Given the description of an element on the screen output the (x, y) to click on. 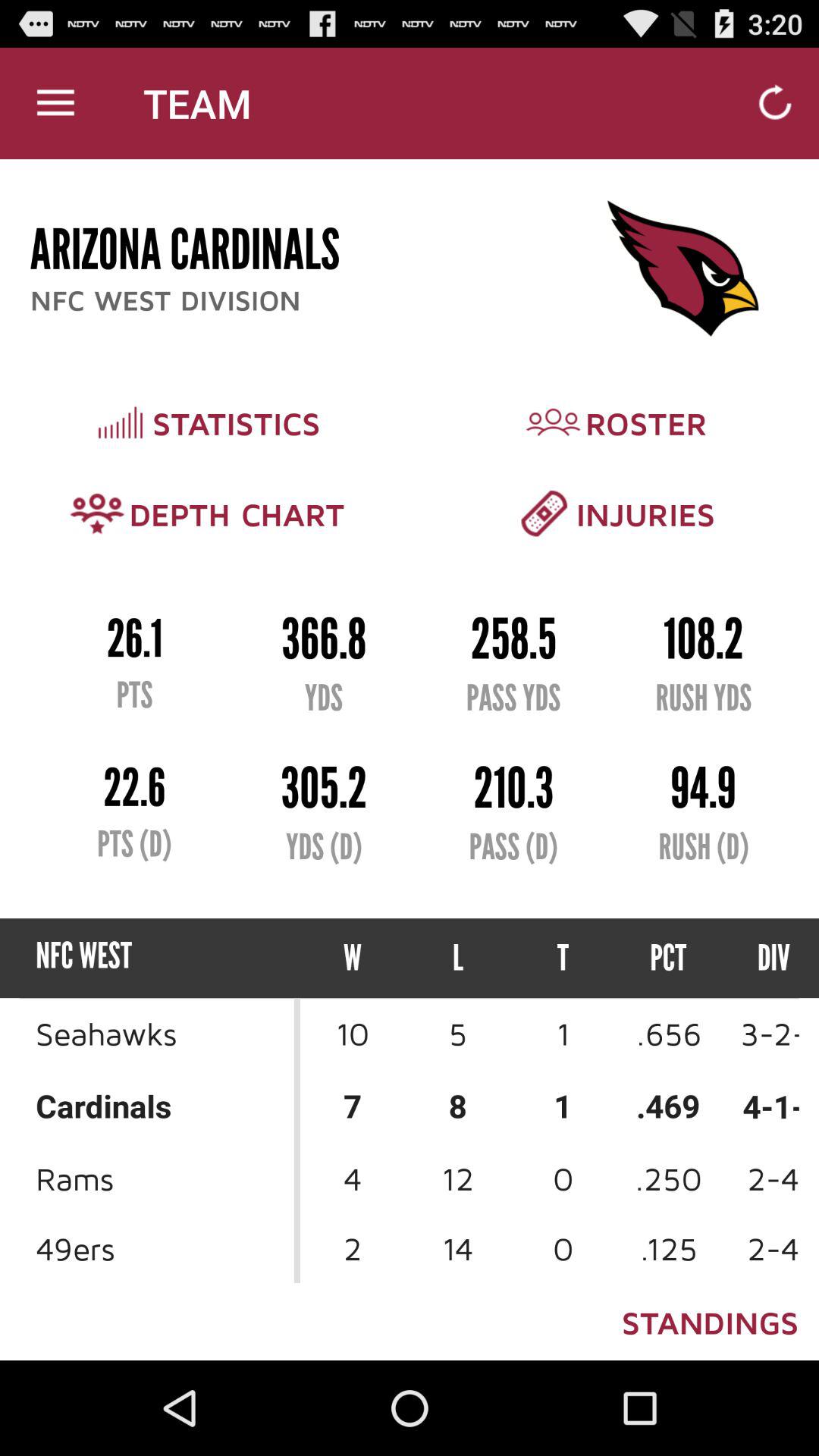
swipe to the l icon (457, 958)
